Given the description of an element on the screen output the (x, y) to click on. 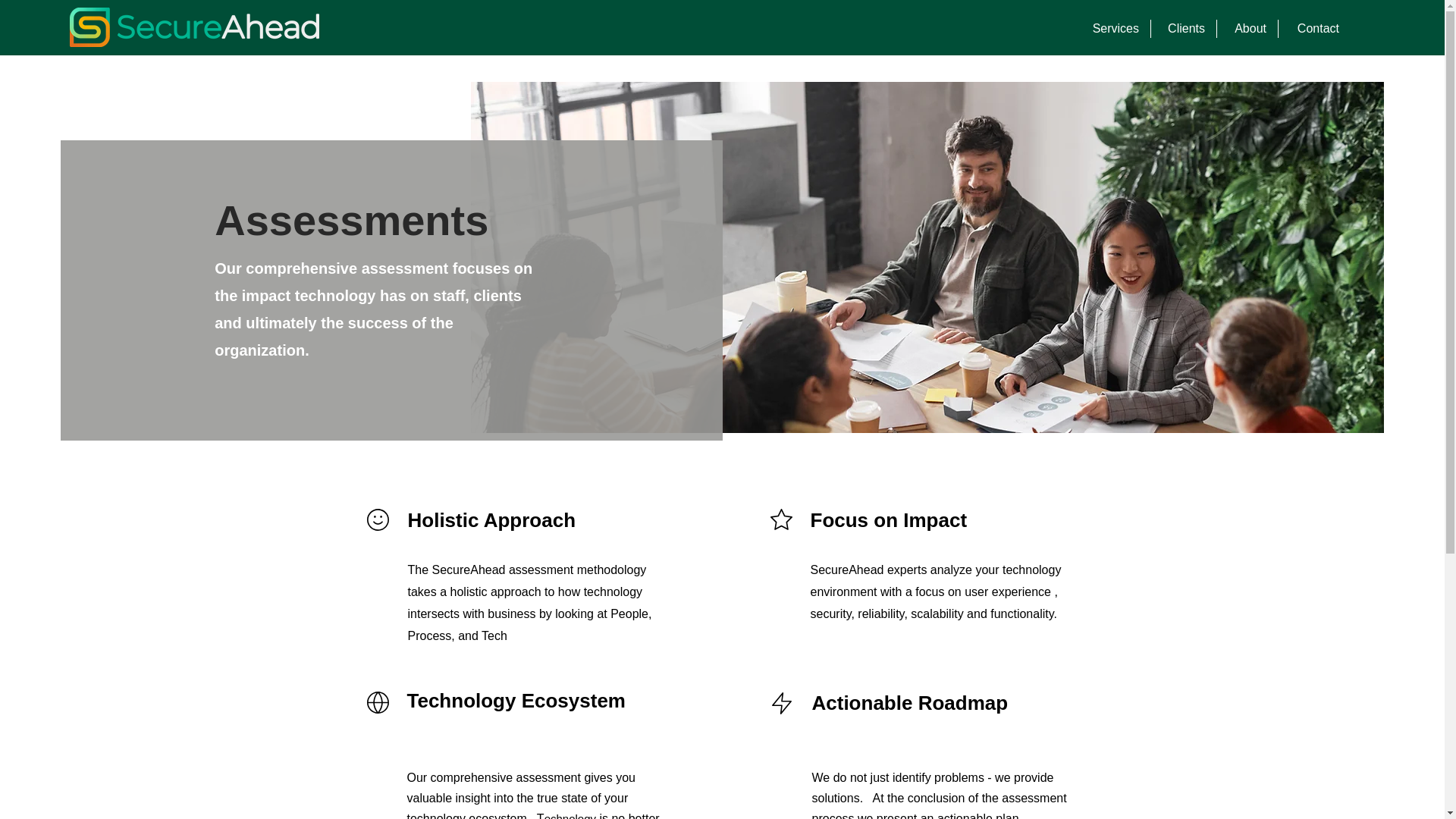
Contact (1314, 28)
About (1247, 28)
